Given the description of an element on the screen output the (x, y) to click on. 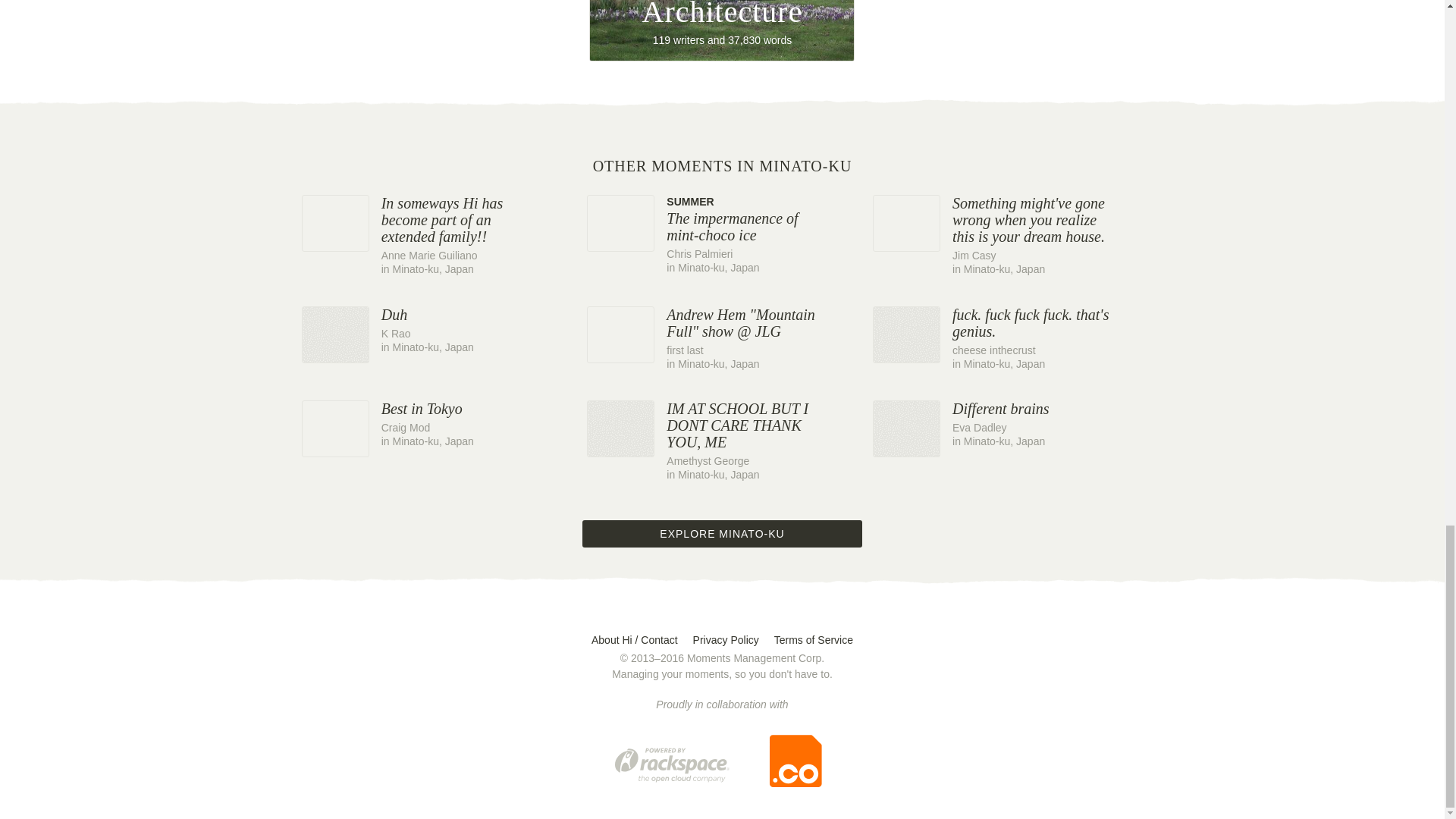
OTHER MOMENTS IN MINATO-KU (1007, 425)
EXPLORE MINATO-KU (721, 30)
